Given the description of an element on the screen output the (x, y) to click on. 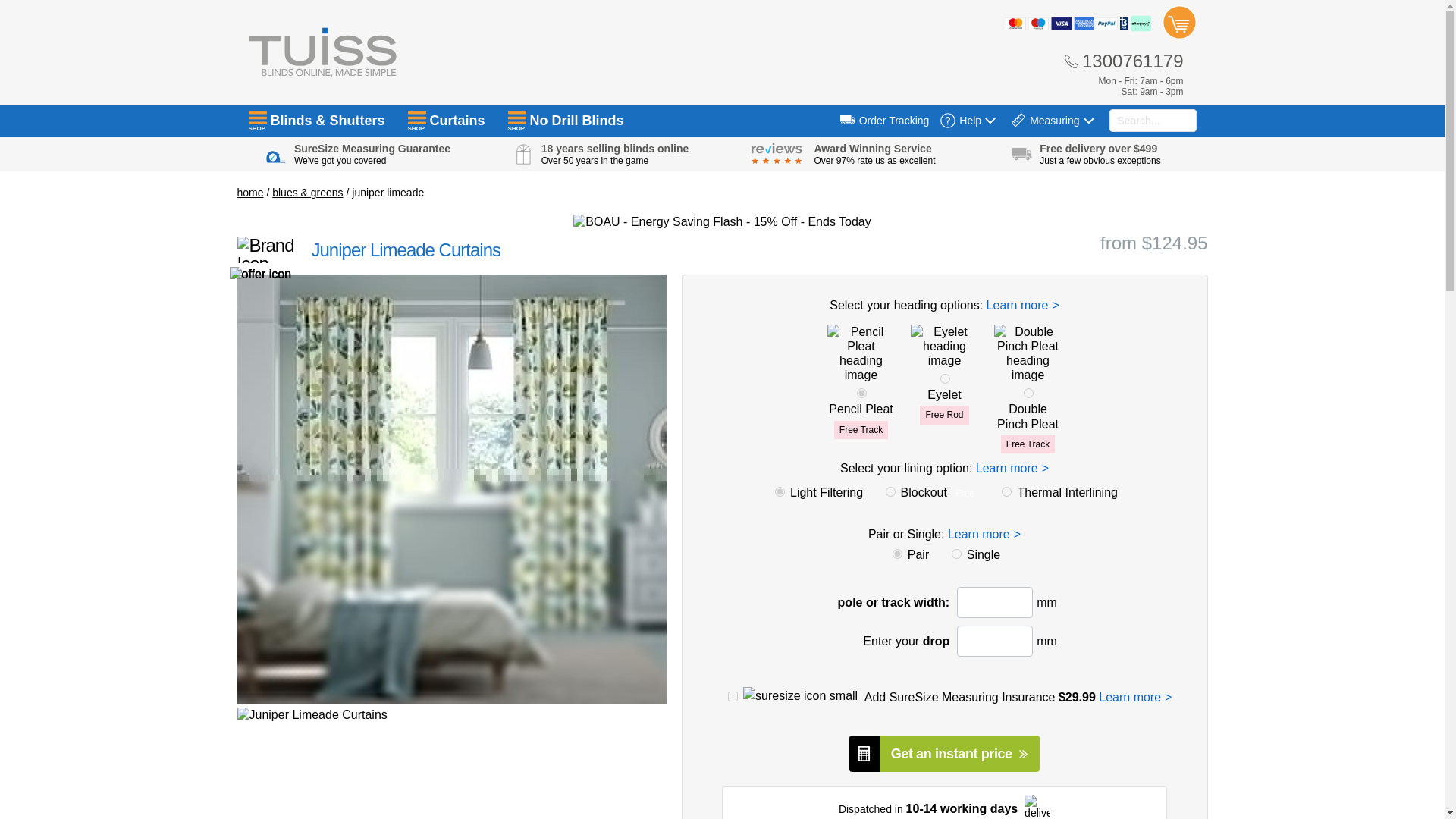
37154 (861, 393)
1300761179 (1123, 61)
burger icon (257, 117)
309 (897, 553)
310 (956, 553)
37155 (945, 378)
37156 (1028, 393)
burger icon (516, 117)
on (733, 696)
254 (1006, 491)
